Given the description of an element on the screen output the (x, y) to click on. 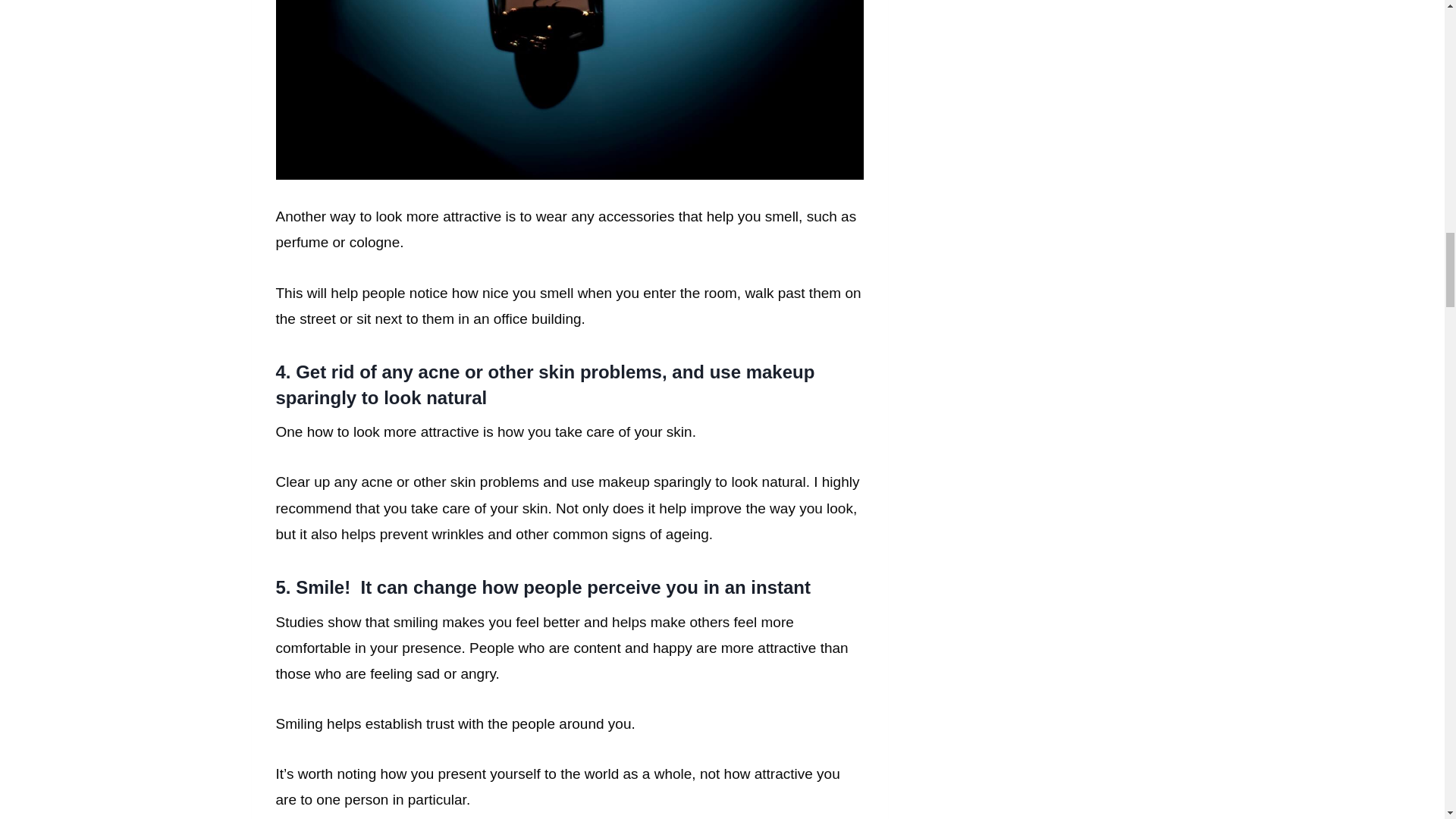
how to look more attractive (570, 89)
